Given the description of an element on the screen output the (x, y) to click on. 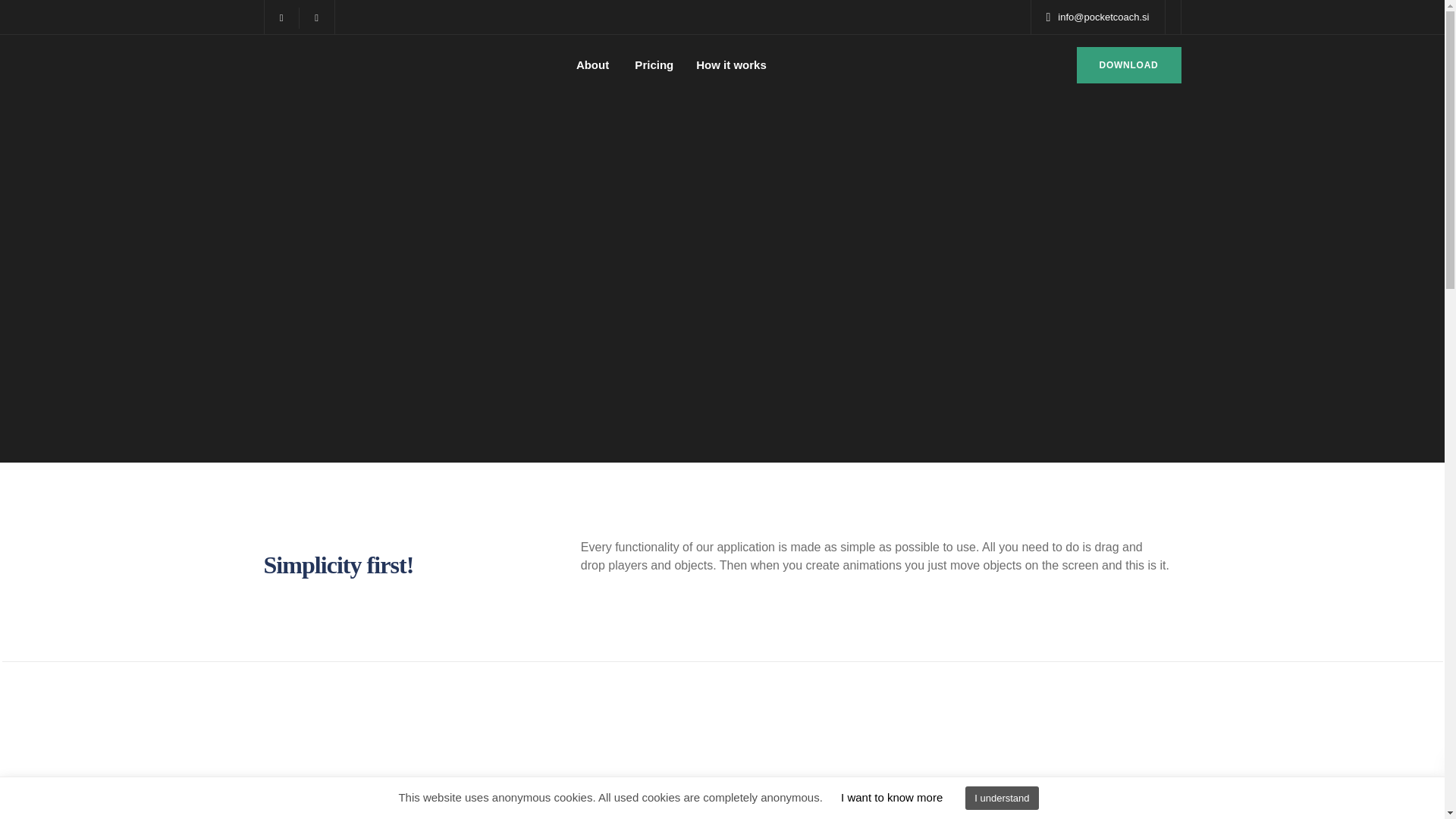
DOWNLOAD (1128, 64)
I understand (1001, 797)
How it works (730, 65)
 Pricing (652, 65)
DOWNLOAD (1128, 64)
Pricing (330, 702)
nextland (761, 792)
 About (591, 65)
How it works (730, 65)
